Given the description of an element on the screen output the (x, y) to click on. 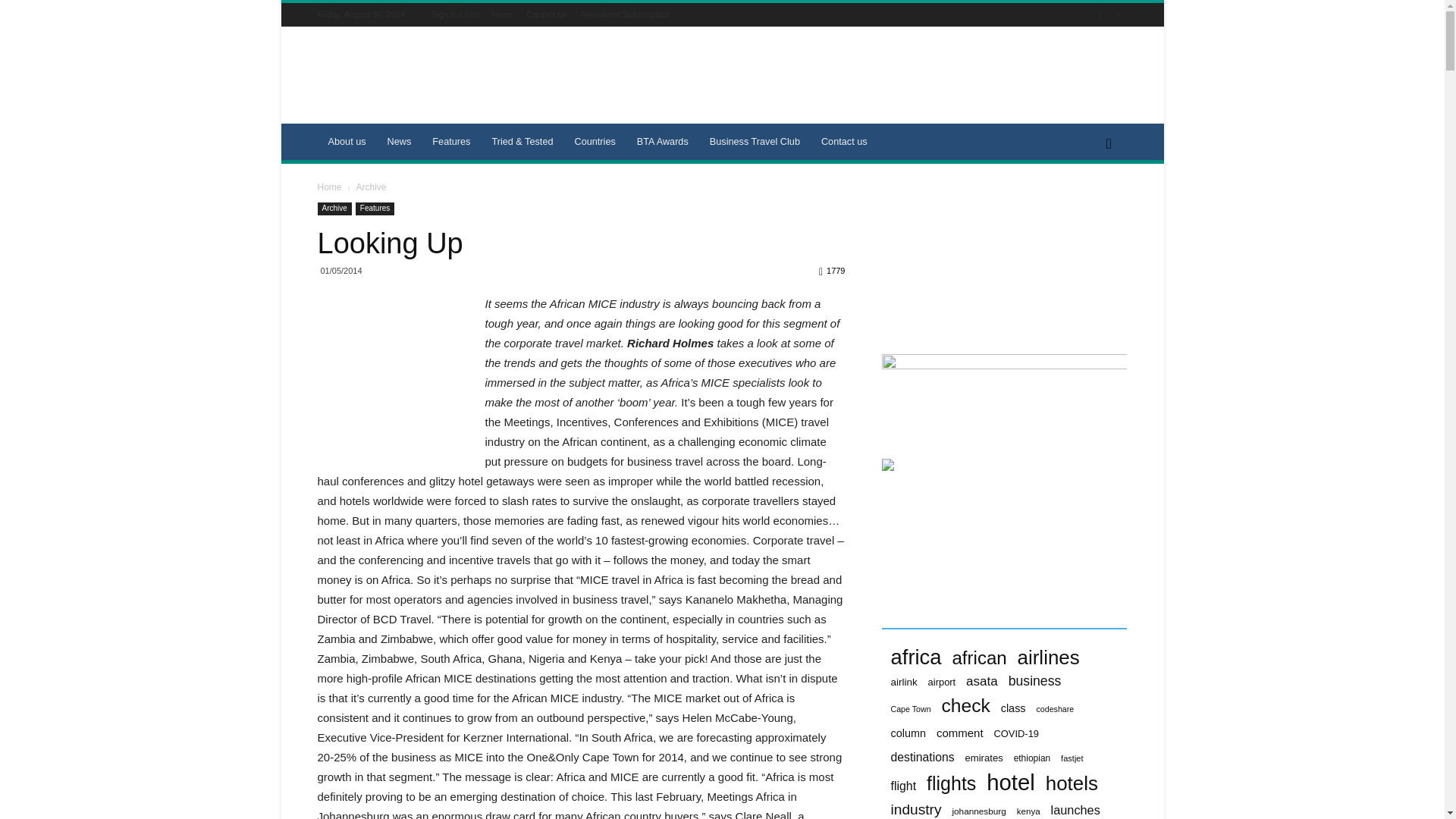
View all posts in Archive (370, 186)
About us (346, 141)
Contact us (545, 13)
News (399, 141)
Facebook (1099, 13)
Twitter (1117, 13)
Newsletter Subscription (624, 13)
YouTube video player (994, 259)
News (502, 13)
